Given the description of an element on the screen output the (x, y) to click on. 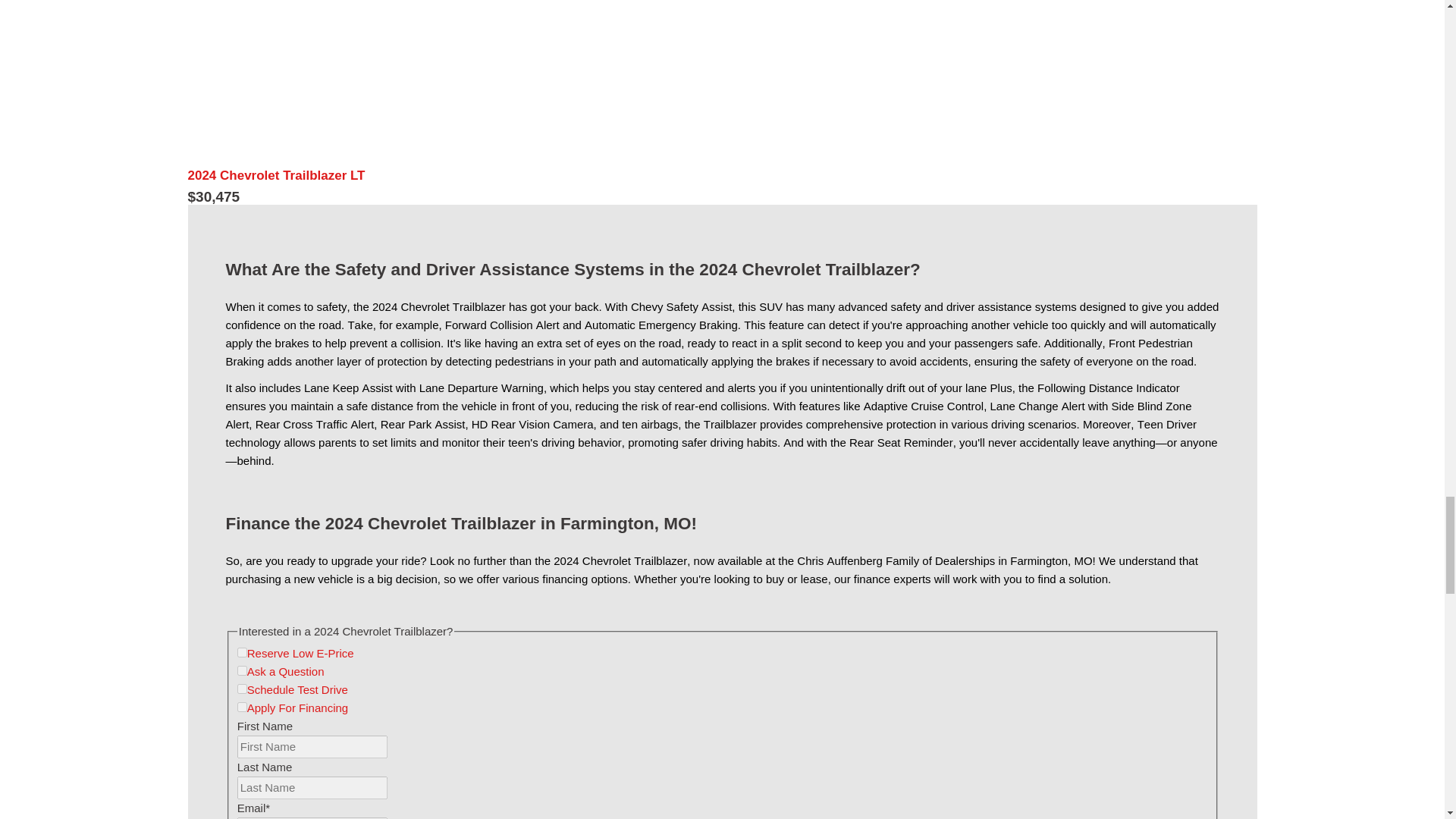
1 (242, 688)
1 (242, 706)
1 (242, 652)
1 (242, 670)
